Given the description of an element on the screen output the (x, y) to click on. 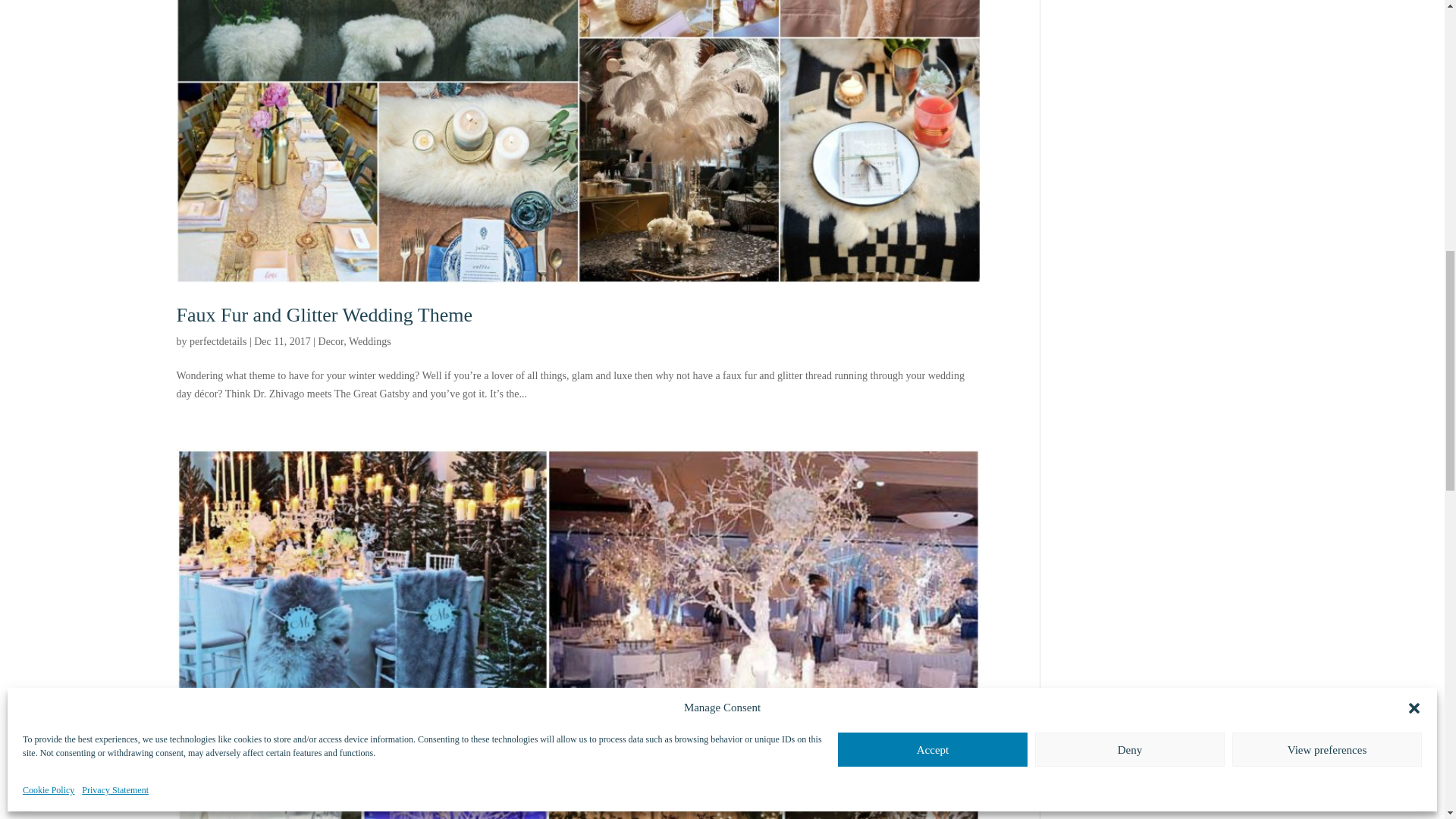
perfectdetails (217, 341)
Posts by perfectdetails (217, 341)
Faux Fur and Glitter Wedding Theme (323, 314)
Decor (330, 341)
